Given the description of an element on the screen output the (x, y) to click on. 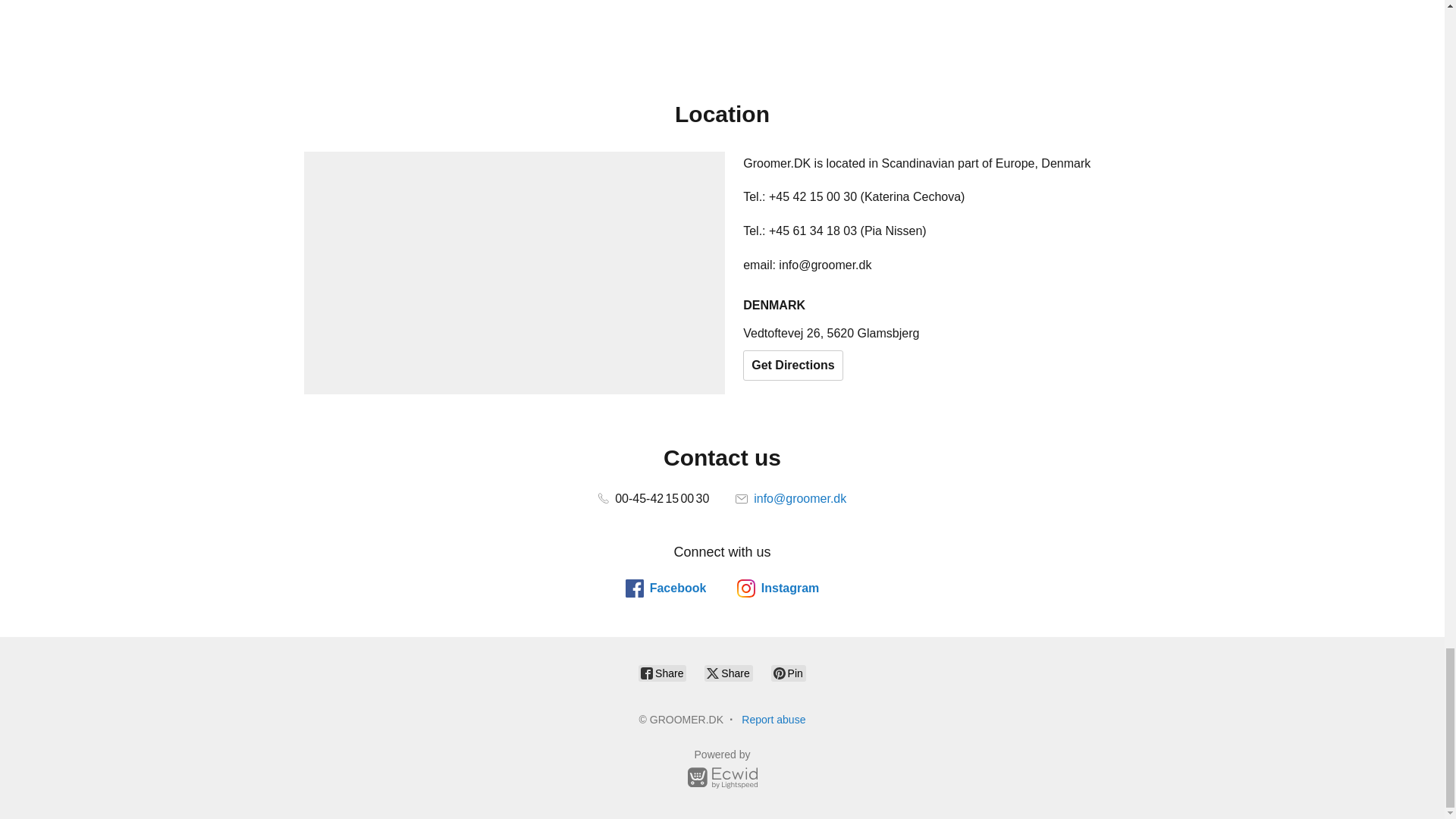
Location on map (513, 272)
